Given the description of an element on the screen output the (x, y) to click on. 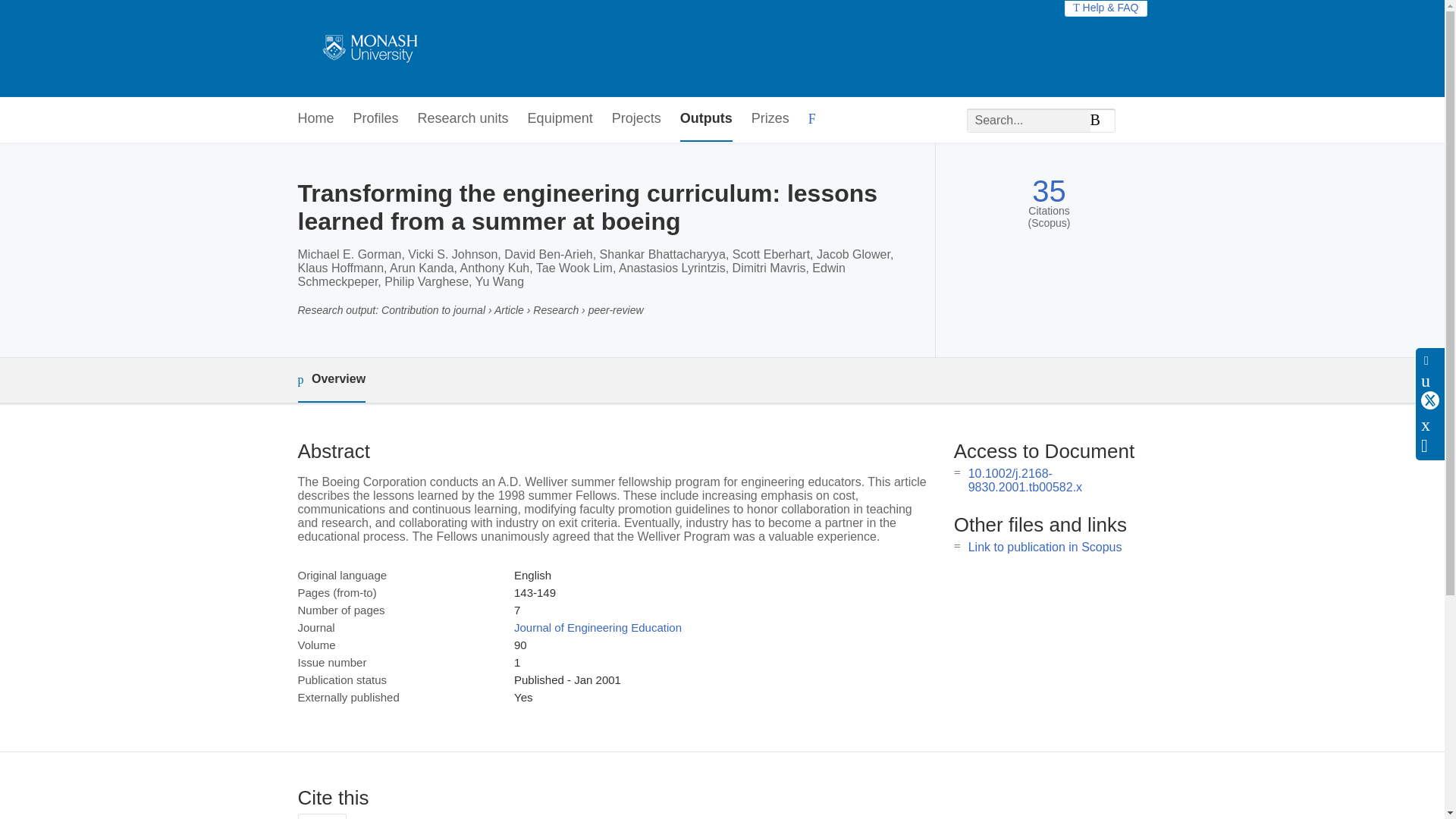
Equipment (559, 119)
Research units (462, 119)
35 (1048, 191)
Projects (636, 119)
Profiles (375, 119)
Outputs (705, 119)
Monash University Home (366, 48)
Overview (331, 379)
Link to publication in Scopus (1045, 546)
